Given the description of an element on the screen output the (x, y) to click on. 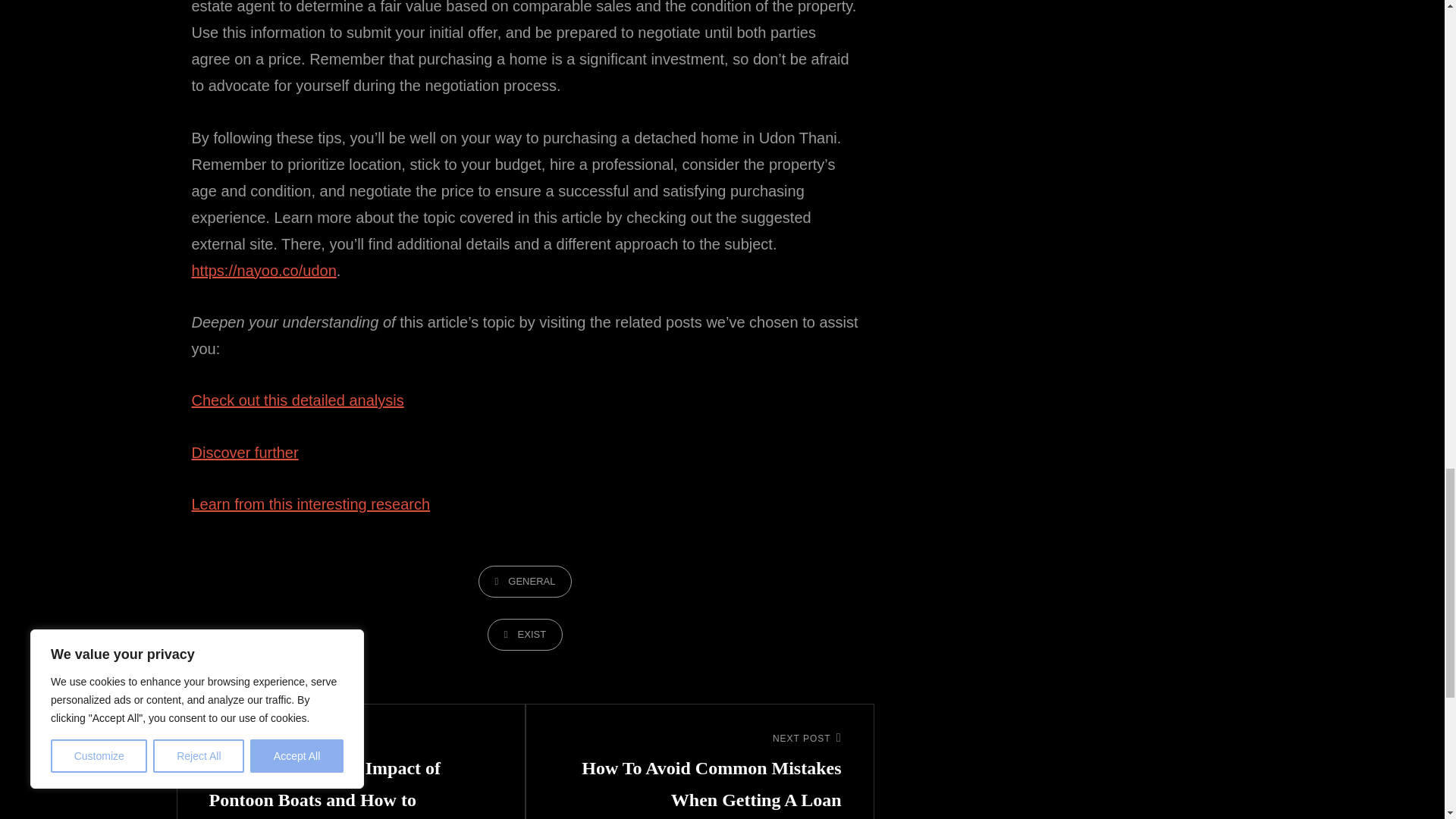
Discover further (244, 452)
Learn from this interesting research (309, 504)
Check out this detailed analysis (296, 400)
GENERAL (525, 581)
EXIST (524, 634)
